Given the description of an element on the screen output the (x, y) to click on. 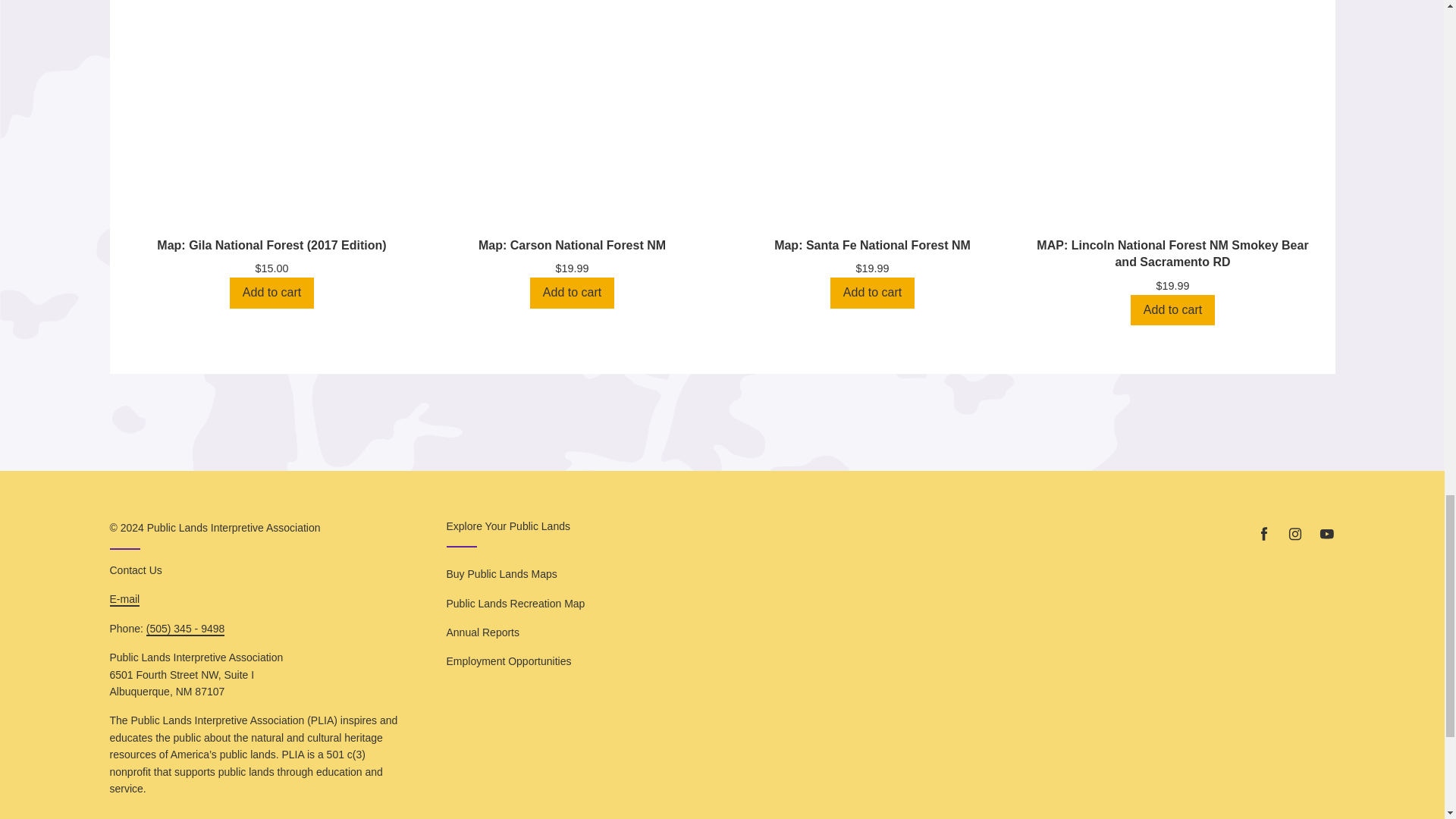
Add to cart (871, 292)
Public Lands Interpretive Association on Facebook (1263, 533)
Public Lands Interpretive Association on Instagram (1295, 533)
Public Lands Interpretive Association on YouTube (1326, 533)
E-Mail publiclands.org (124, 599)
Add to cart (272, 292)
Add to cart (571, 292)
Add to cart (1172, 309)
